Given the description of an element on the screen output the (x, y) to click on. 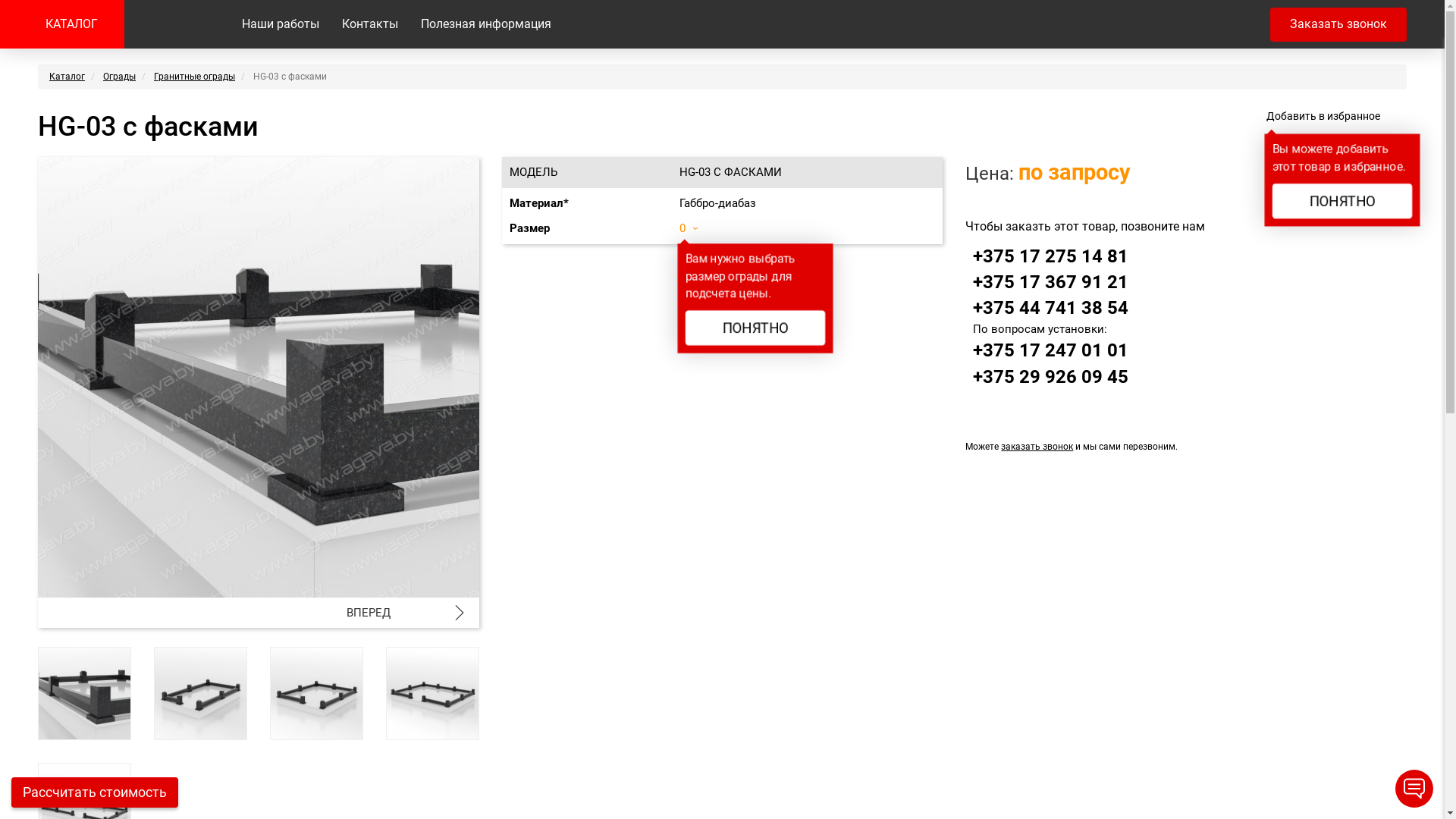
+375 29 926 09 45 Element type: text (1050, 376)
+375 17 247 01 01 Element type: text (1050, 349)
+375 17 367 91 21 Element type: text (1050, 281)
+375 17 275 14 81 Element type: text (1050, 255)
+375 44 741 38 54 Element type: text (1050, 307)
